Given the description of an element on the screen output the (x, y) to click on. 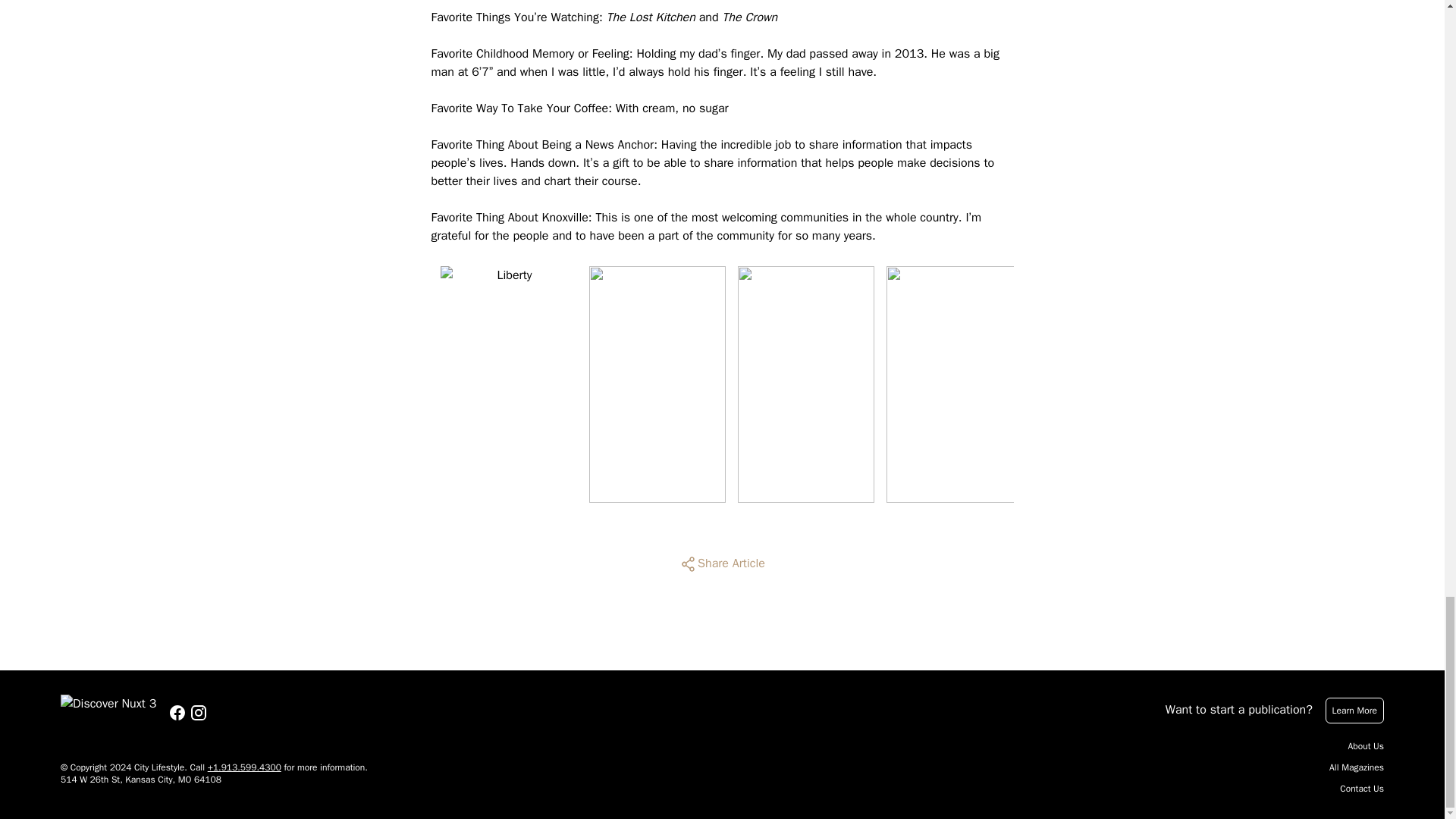
Contact Us (1361, 788)
About Us (1366, 746)
All Magazines (1356, 767)
Learn More (1354, 710)
Share Article (722, 563)
